Given the description of an element on the screen output the (x, y) to click on. 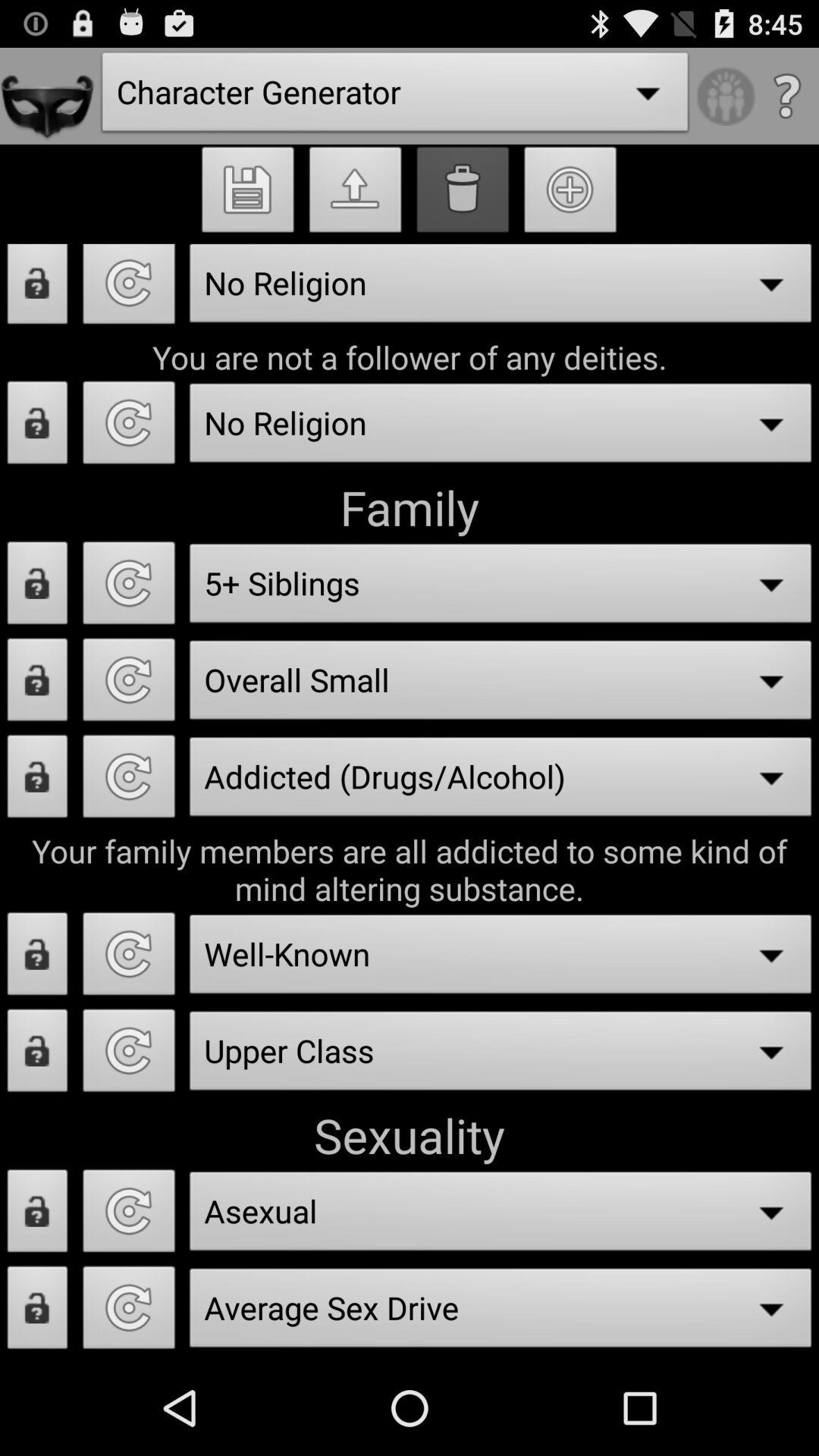
refresh (129, 683)
